Given the description of an element on the screen output the (x, y) to click on. 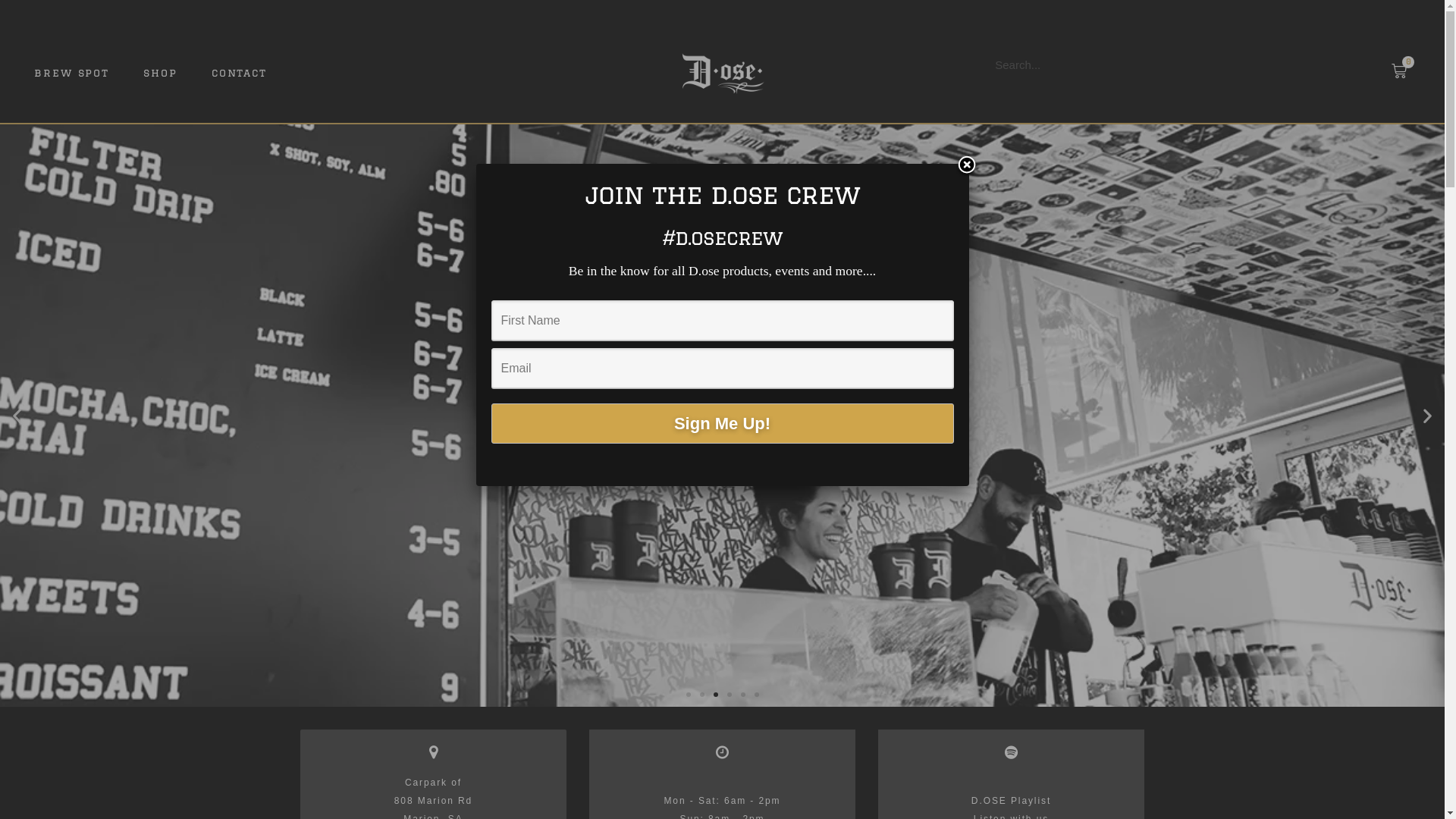
brew spot Element type: text (71, 72)
Sign Me Up! Element type: text (722, 423)
Close Element type: hover (966, 165)
contact Element type: text (239, 72)
0 Element type: text (1398, 70)
Dose_D-Full_White_Header Element type: hover (721, 72)
shop Element type: text (159, 72)
